Given the description of an element on the screen output the (x, y) to click on. 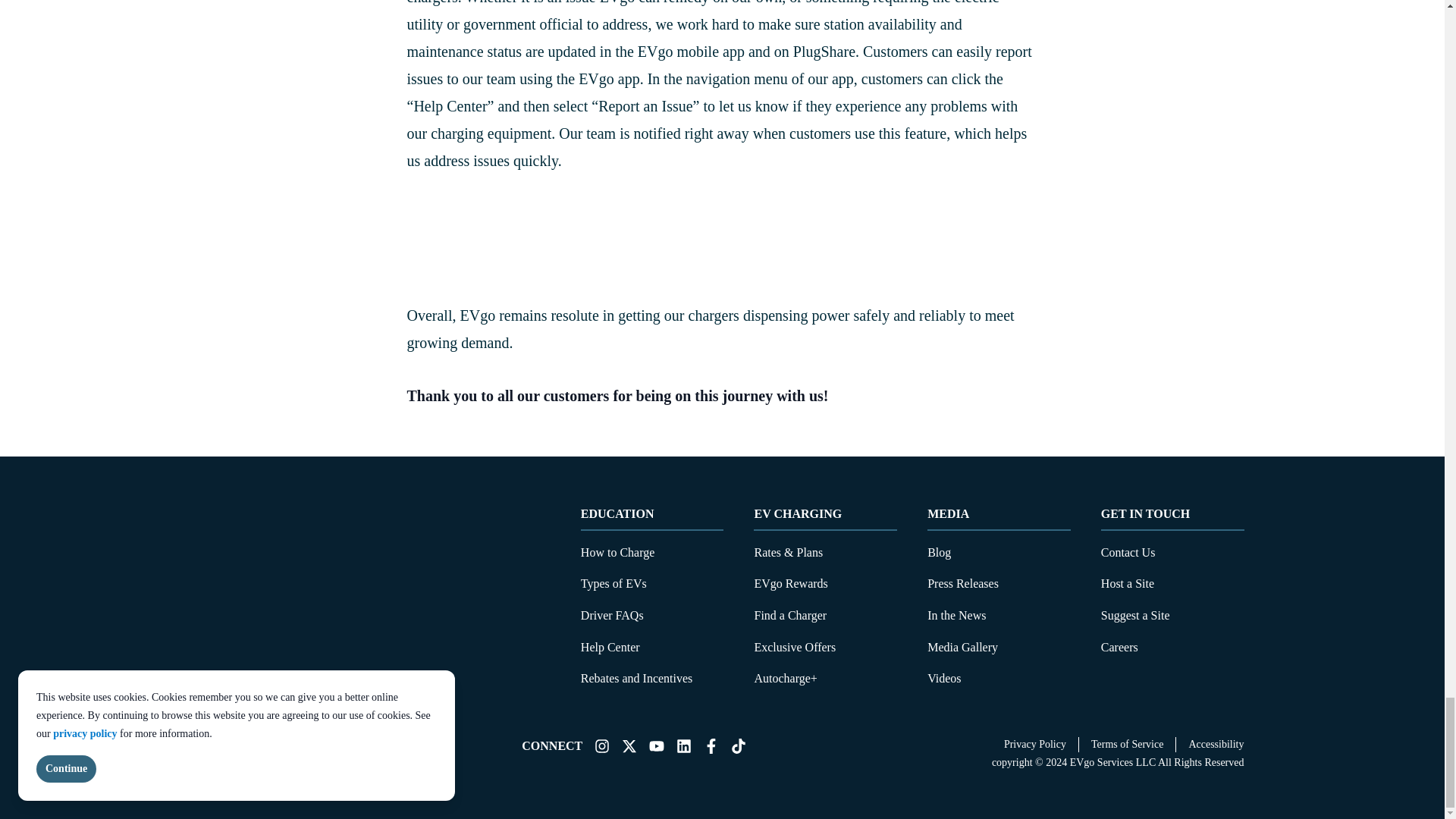
Host a Site (1127, 583)
Find a Charger (790, 615)
Contact Us (1128, 552)
Help Center (610, 646)
Driver FAQs (611, 615)
Videos (943, 677)
Careers (1119, 646)
Types of EVs (613, 583)
Exclusive Offers (794, 646)
Rebates and Incentives (636, 677)
